Given the description of an element on the screen output the (x, y) to click on. 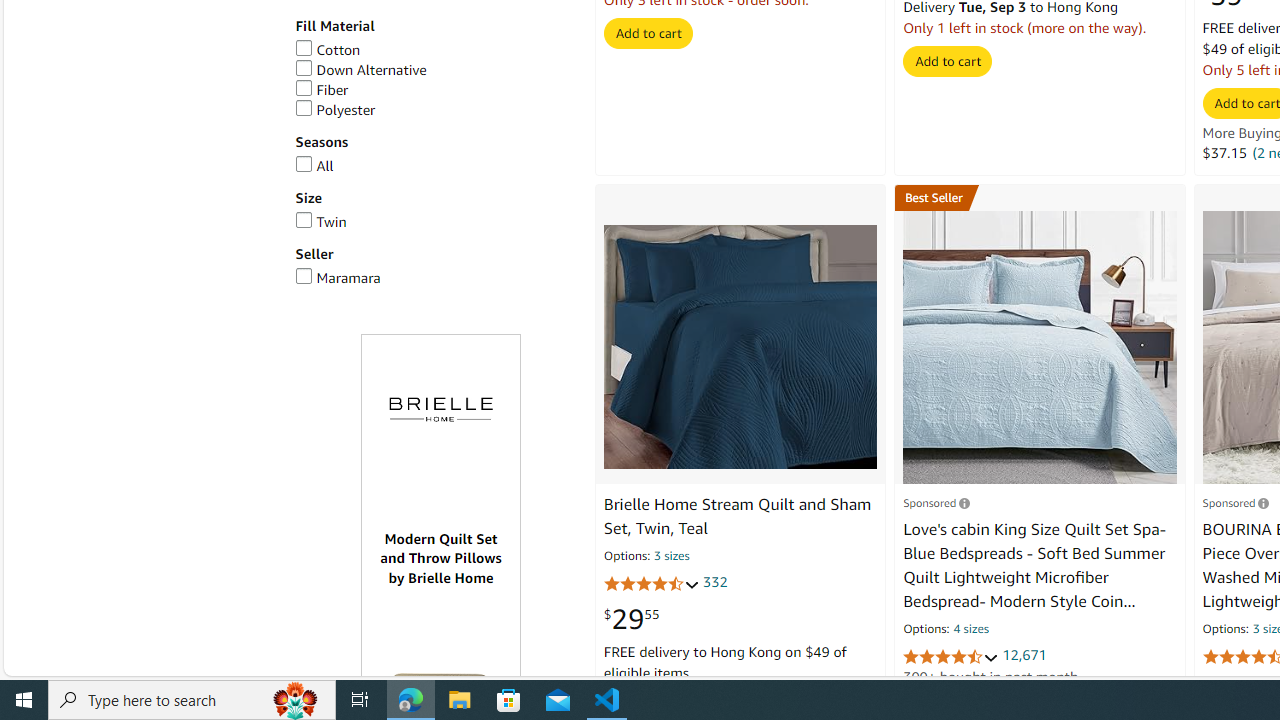
Go back to filtering menu (84, 666)
Polyester (434, 110)
$41.99 (1230, 691)
View Sponsored information or leave ad feedback (1235, 502)
Maramara (337, 277)
Brielle Home Stream Quilt and Sham Set, Twin, Teal (740, 347)
4.5 out of 5 stars (950, 655)
Down Alternative (360, 69)
Skip to main search results (88, 666)
Maramara (434, 278)
Twin (434, 222)
4 sizes (970, 629)
